Given the description of an element on the screen output the (x, y) to click on. 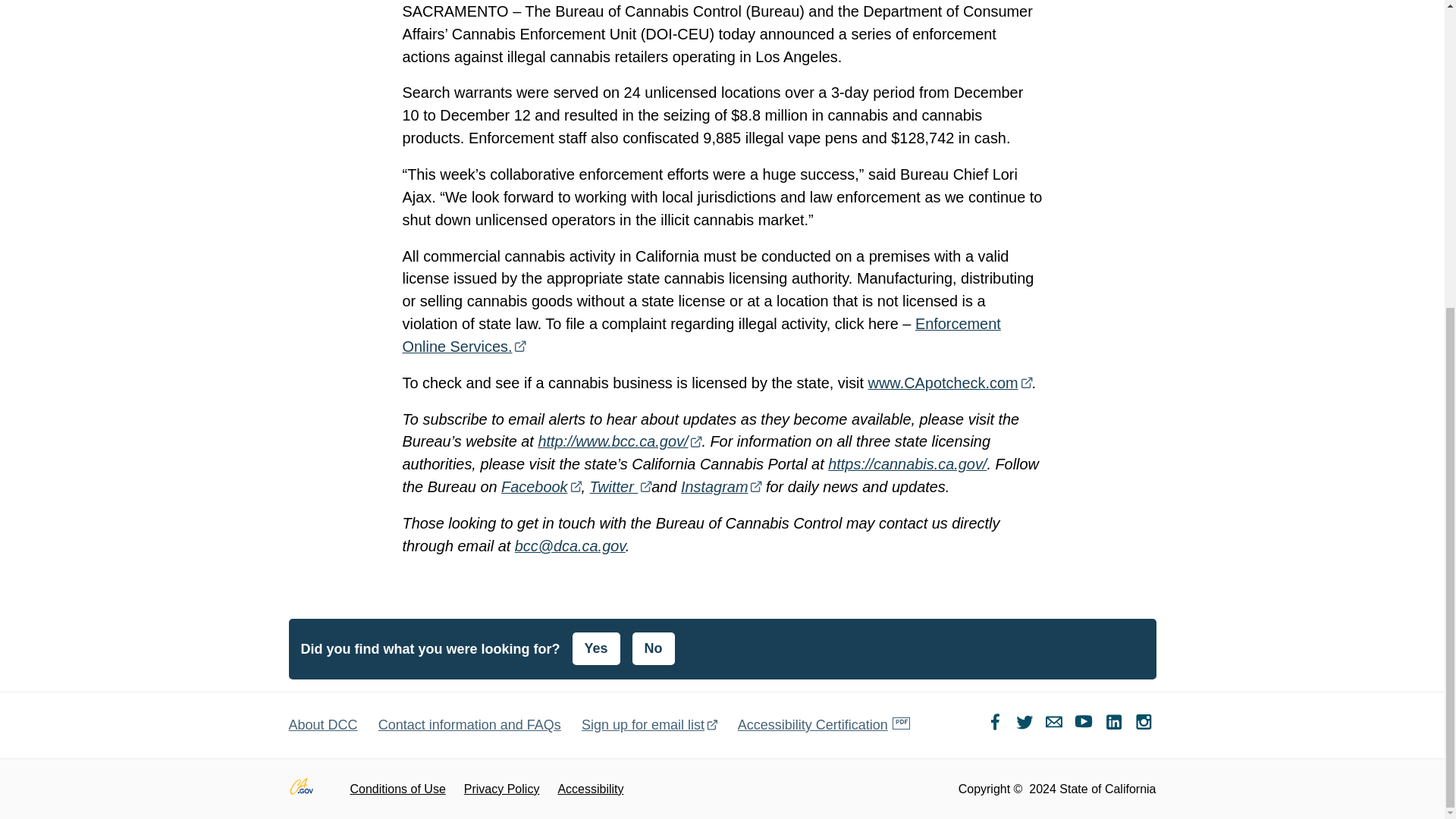
Share via Facebook (996, 725)
ca.gov (309, 788)
Share via Twitter (1026, 725)
Share via YouTube (1085, 725)
Share via Email (1056, 725)
Share via Instagram (1143, 725)
Share via LinkedIn (1115, 725)
